Given the description of an element on the screen output the (x, y) to click on. 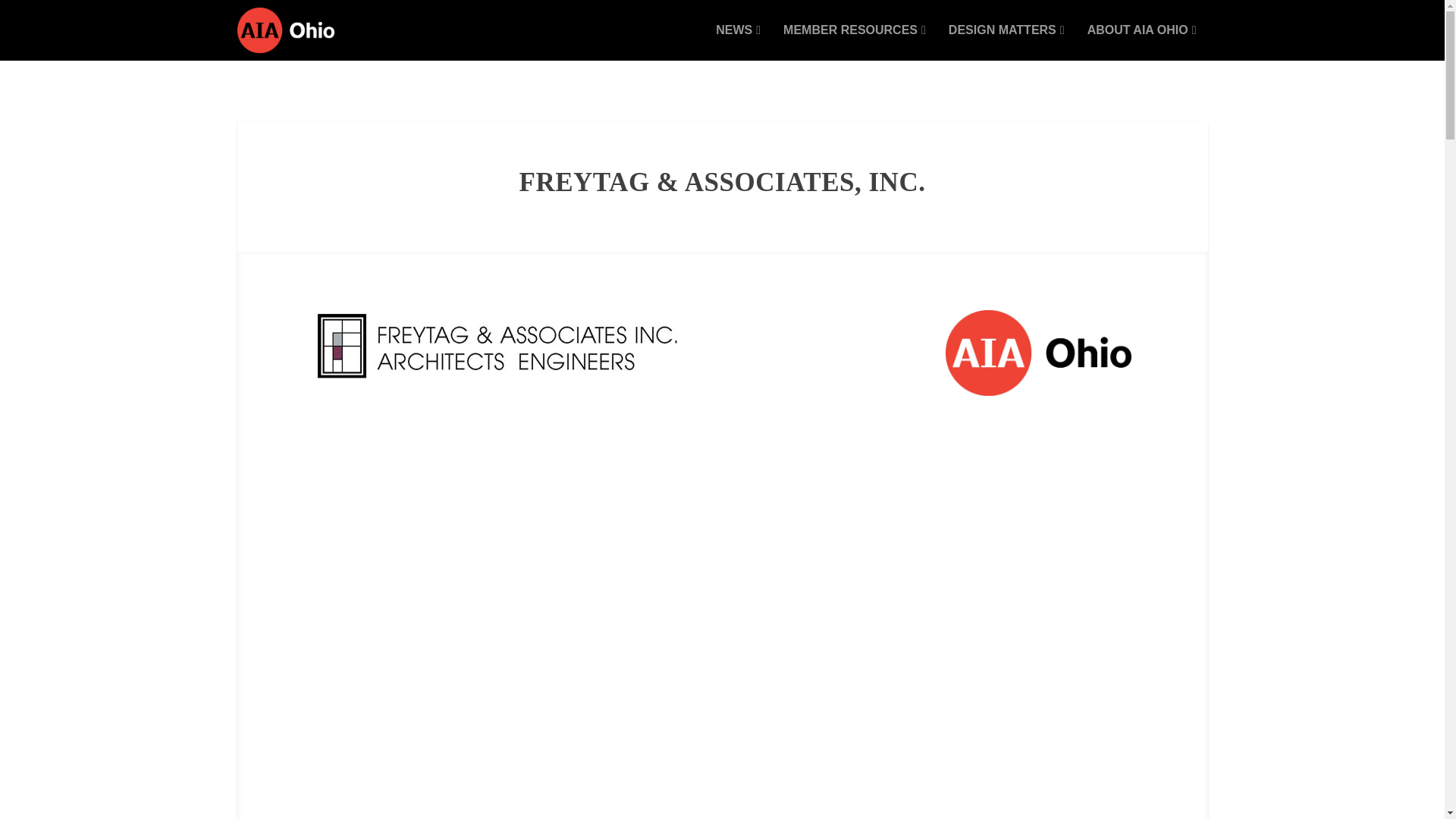
DESIGN MATTERS (1006, 42)
FreytagLogo (498, 345)
NEWS (738, 42)
MEMBER RESOURCES (854, 42)
ABOUT AIA OHIO (1141, 42)
